Given the description of an element on the screen output the (x, y) to click on. 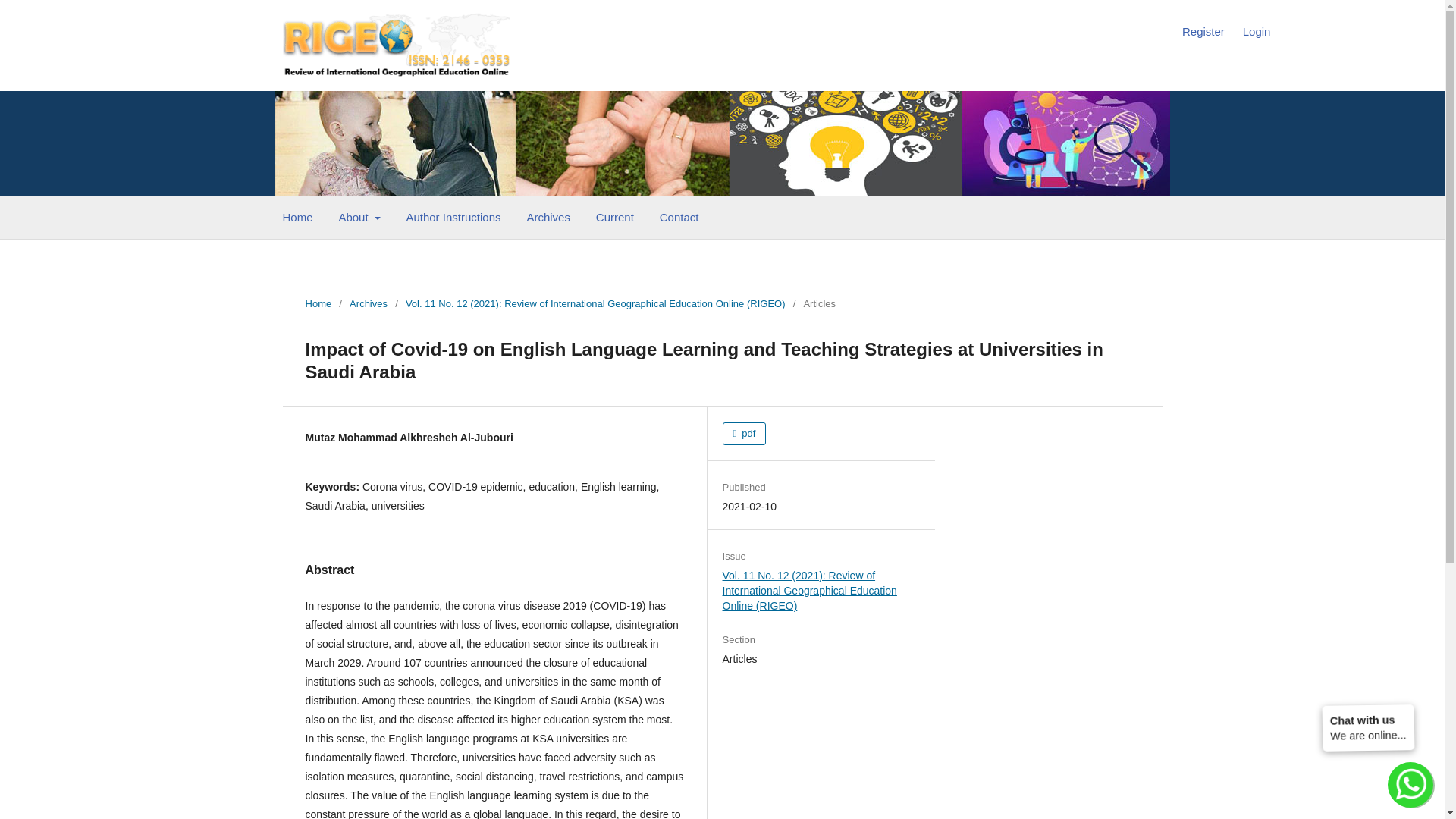
Archives (548, 219)
pdf (744, 433)
Author Instructions (453, 219)
Contact (678, 219)
Register (1203, 31)
Home (317, 304)
Open Journal Systems (395, 43)
Archives (368, 304)
About (359, 219)
Login (1257, 31)
Home (297, 219)
Current (614, 219)
